Given the description of an element on the screen output the (x, y) to click on. 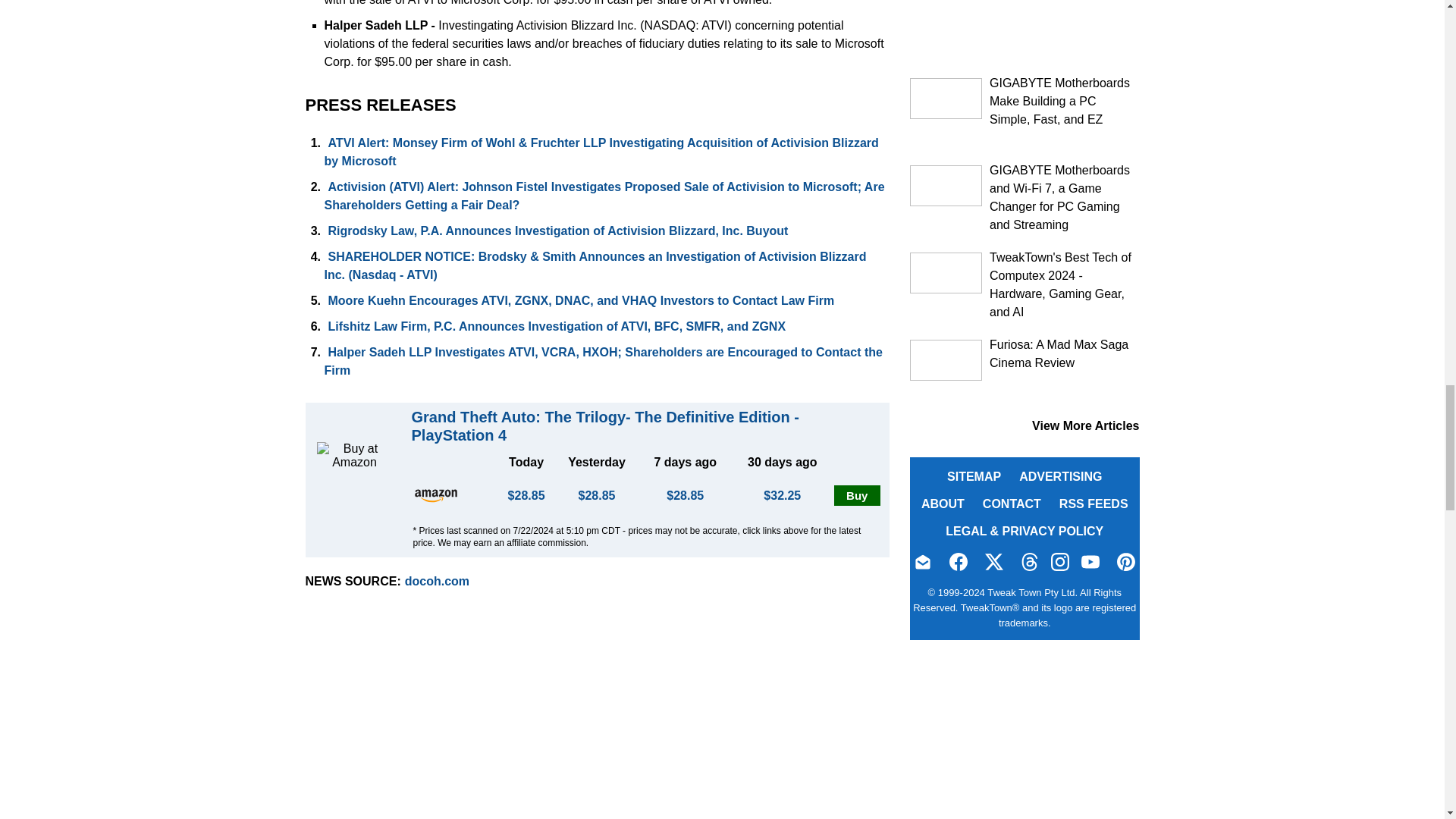
Buy at Amazon (857, 495)
Buy at Amazon (435, 495)
